Given the description of an element on the screen output the (x, y) to click on. 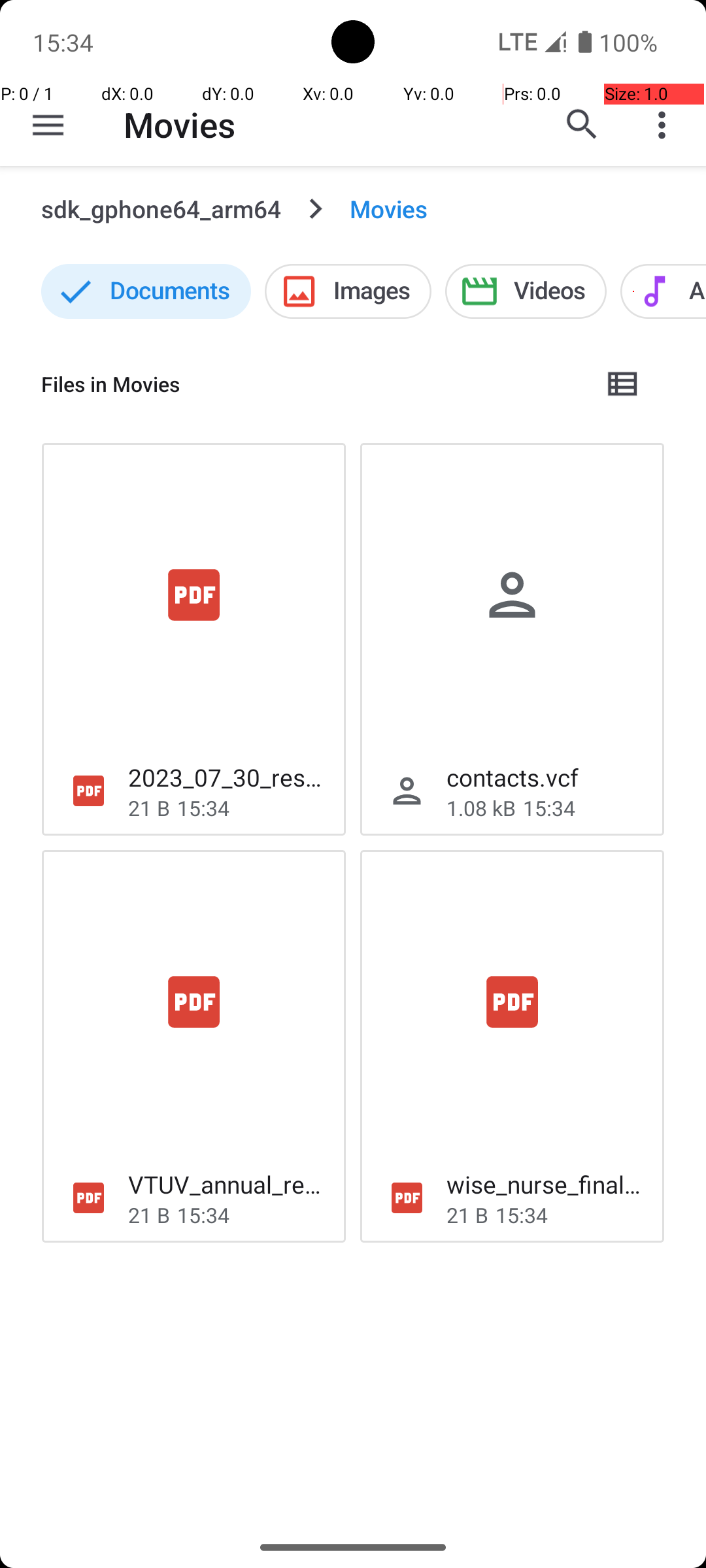
Files in Movies Element type: android.widget.TextView (311, 383)
2023_07_30_resume.pdf Element type: android.widget.TextView (226, 776)
21 B Element type: android.widget.TextView (148, 807)
contacts.vcf Element type: android.widget.TextView (512, 776)
1.08 kB Element type: android.widget.TextView (480, 807)
VTUV_annual_report.pdf Element type: android.widget.TextView (226, 1183)
wise_nurse_final.pdf Element type: android.widget.TextView (544, 1183)
